Given the description of an element on the screen output the (x, y) to click on. 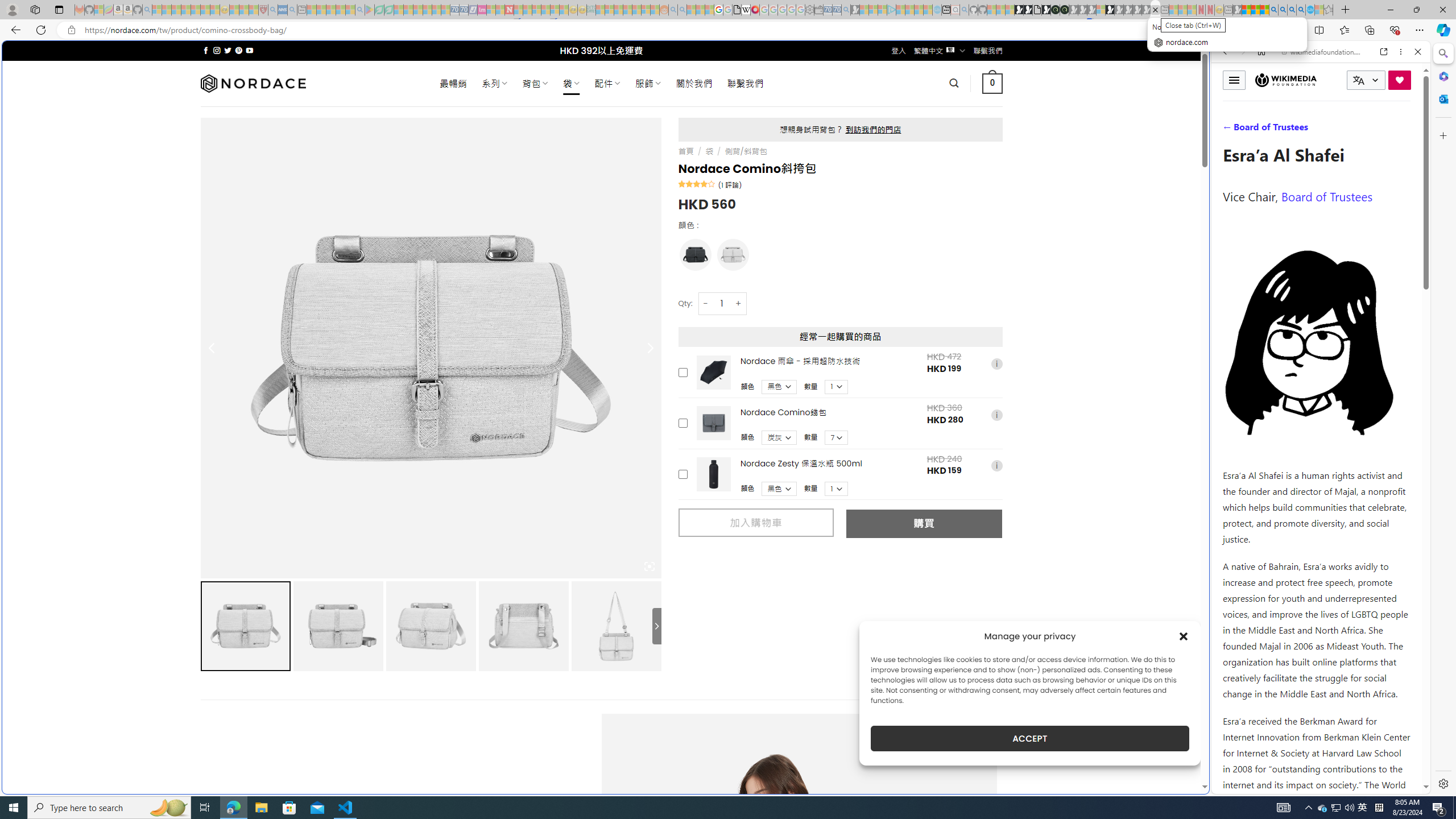
Microsoft-Report a Concern to Bing - Sleeping (98, 9)
Local - MSN - Sleeping (253, 9)
Microsoft 365 (1442, 76)
Home | Sky Blue Bikes - Sky Blue Bikes (1118, 242)
Show translate options (1220, 29)
Search Filter, Search Tools (1350, 129)
Microsoft Start Gaming - Sleeping (854, 9)
Tab actions menu (58, 9)
Add this product to cart (682, 474)
github - Search - Sleeping (964, 9)
